Given the description of an element on the screen output the (x, y) to click on. 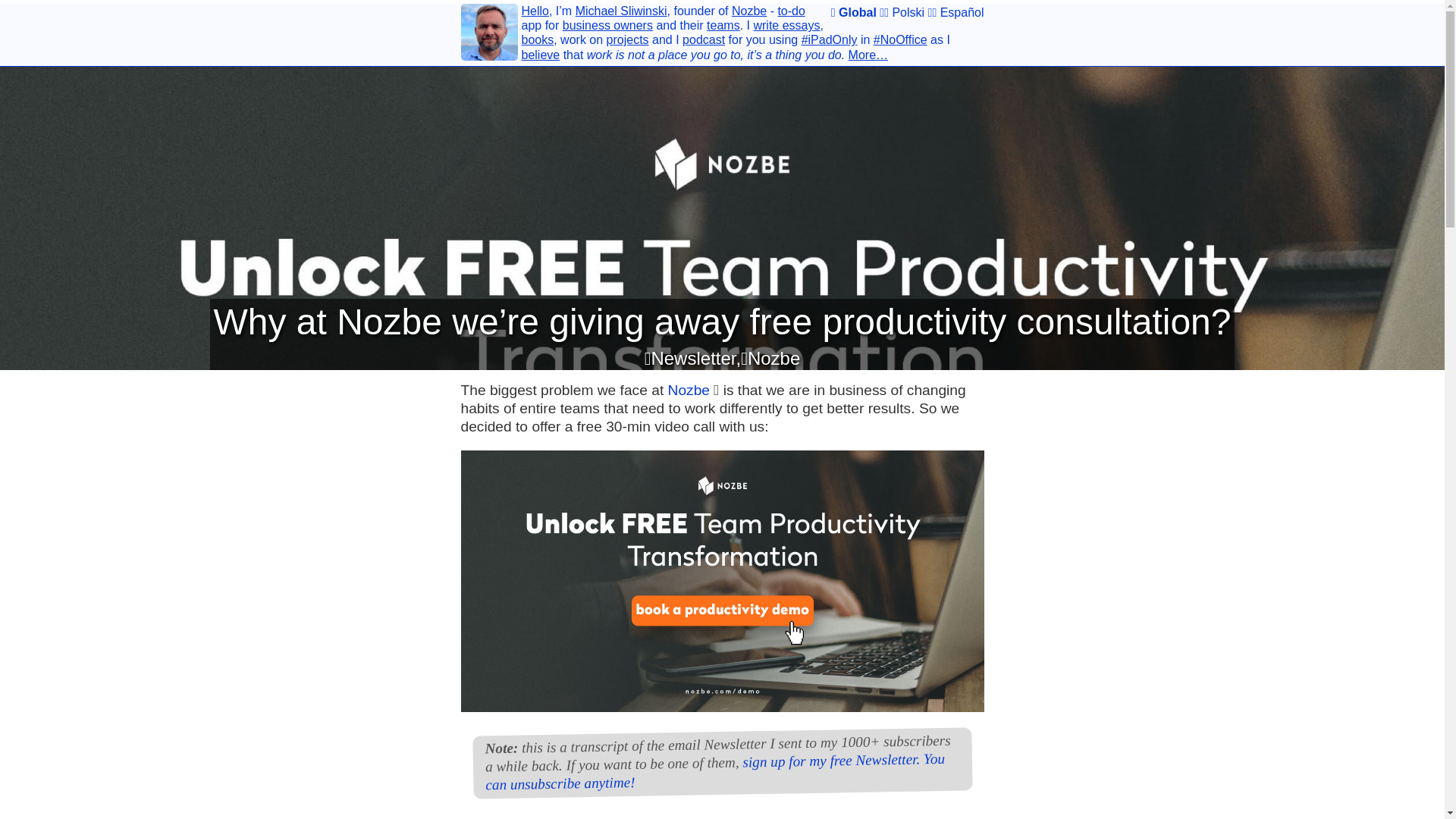
projects (628, 39)
to-do (791, 10)
Nozbe (689, 390)
podcast (703, 39)
write essays (785, 24)
Hello (534, 10)
sign up for my free Newsletter. You can unsubscribe anytime! (714, 767)
Michael Sliwinski (620, 10)
Michael.team by Michael Sliwinski (489, 35)
business owners (607, 24)
books (537, 39)
Nozbe (749, 10)
believe (540, 54)
teams (722, 24)
